Given the description of an element on the screen output the (x, y) to click on. 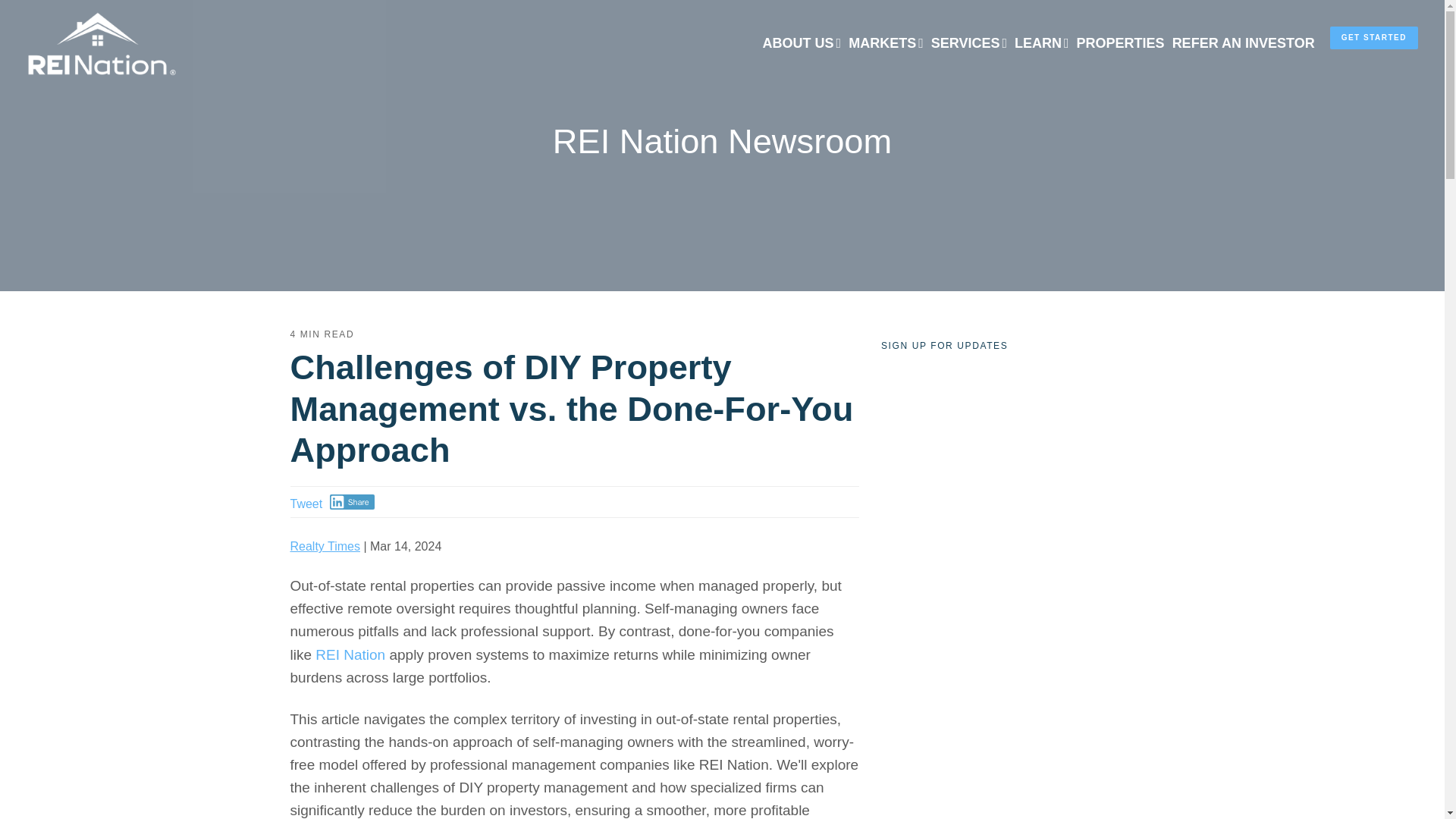
ABOUT US (801, 43)
GET STARTED (1374, 37)
SERVICES (968, 43)
Get Started (1374, 37)
MARKETS (885, 43)
LEARN (1041, 43)
